Given the description of an element on the screen output the (x, y) to click on. 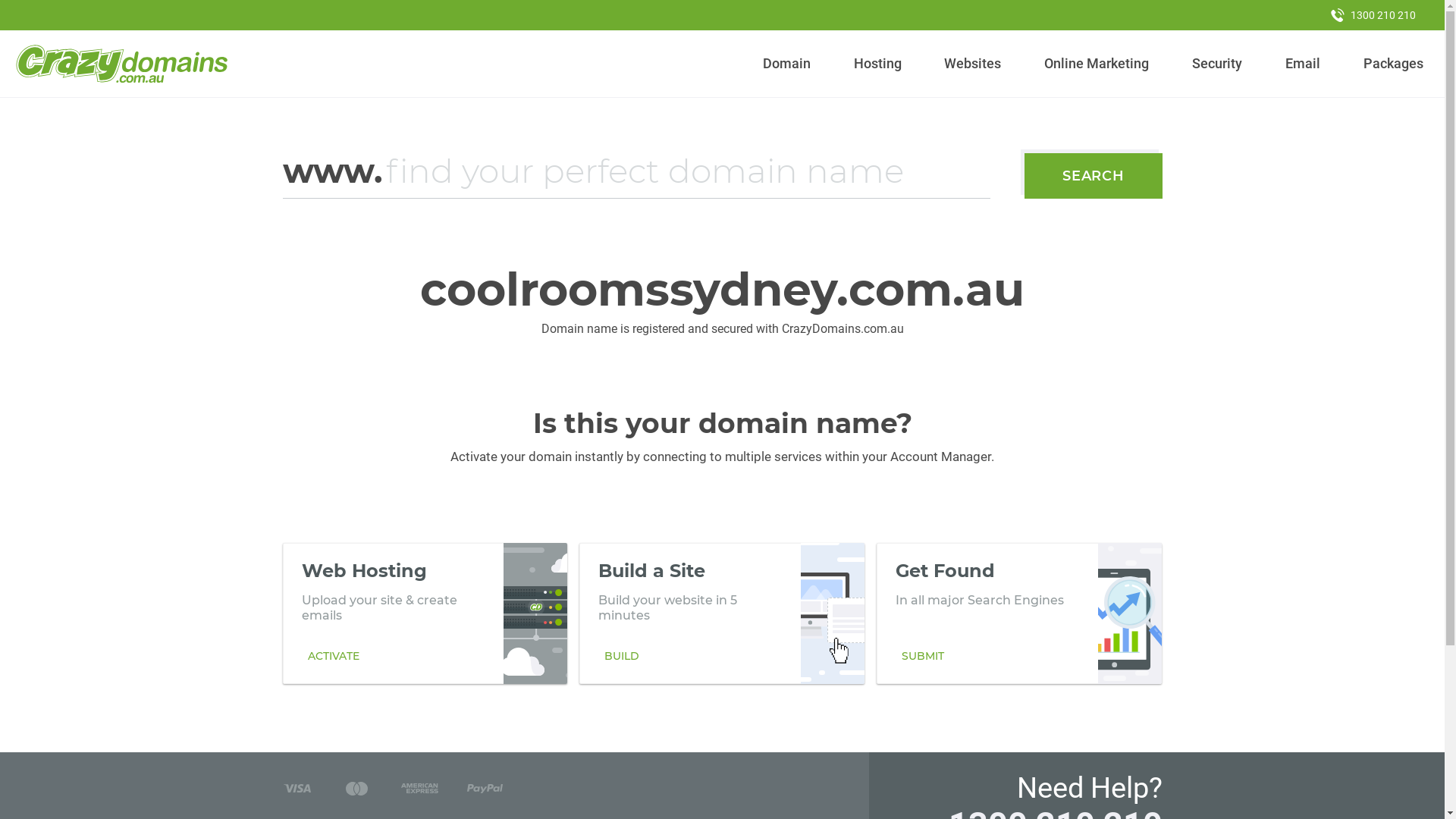
Online Marketing Element type: text (1096, 63)
Packages Element type: text (1392, 63)
Build a Site
Build your website in 5 minutes
BUILD Element type: text (721, 613)
Web Hosting
Upload your site & create emails
ACTIVATE Element type: text (424, 613)
Security Element type: text (1217, 63)
Hosting Element type: text (877, 63)
1300 210 210 Element type: text (1373, 15)
Get Found
In all major Search Engines
SUBMIT Element type: text (1018, 613)
Websites Element type: text (972, 63)
Domain Element type: text (786, 63)
Email Element type: text (1302, 63)
SEARCH Element type: text (1092, 175)
